Given the description of an element on the screen output the (x, y) to click on. 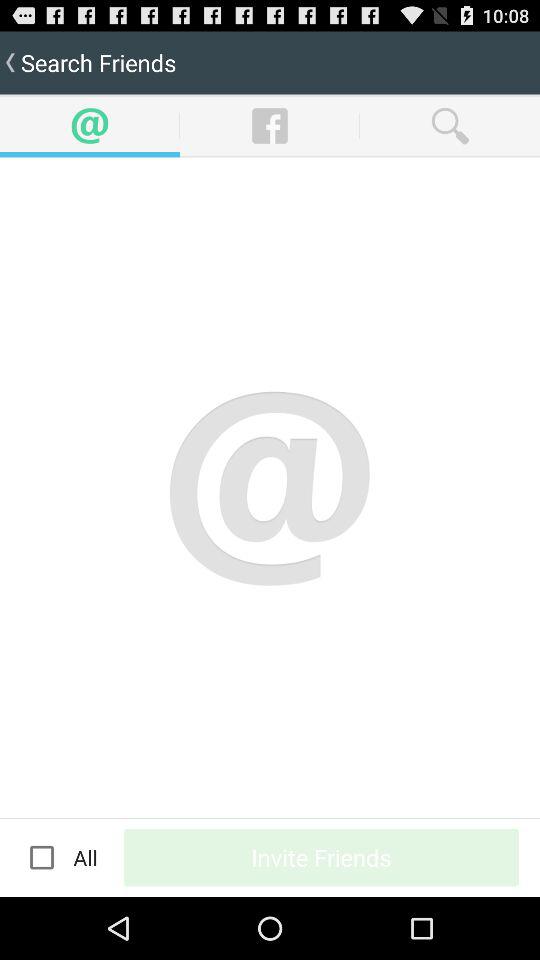
click app below the search friends item (42, 857)
